Given the description of an element on the screen output the (x, y) to click on. 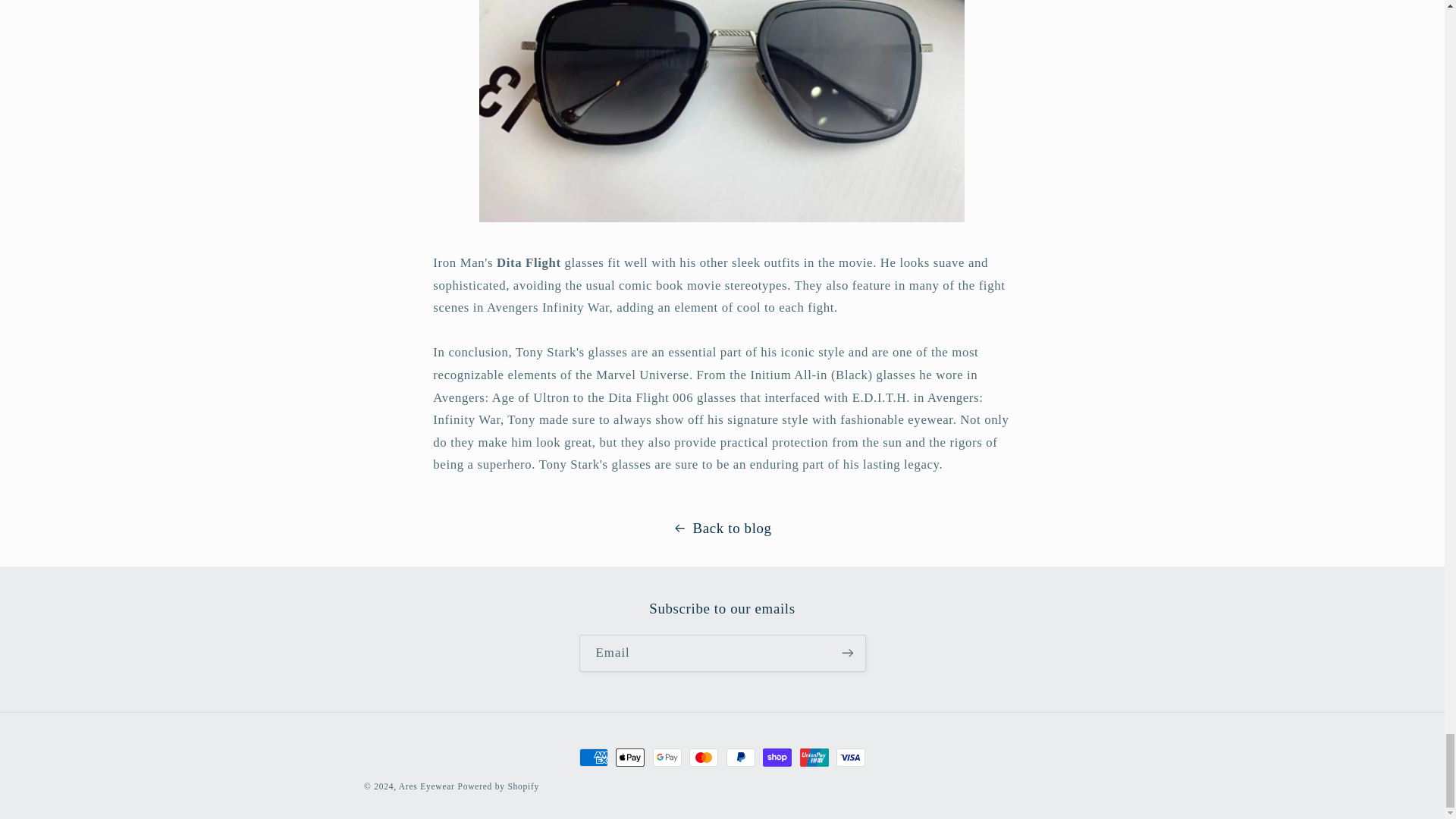
Powered by Shopify (499, 786)
Ares Eyewear (426, 786)
